Given the description of an element on the screen output the (x, y) to click on. 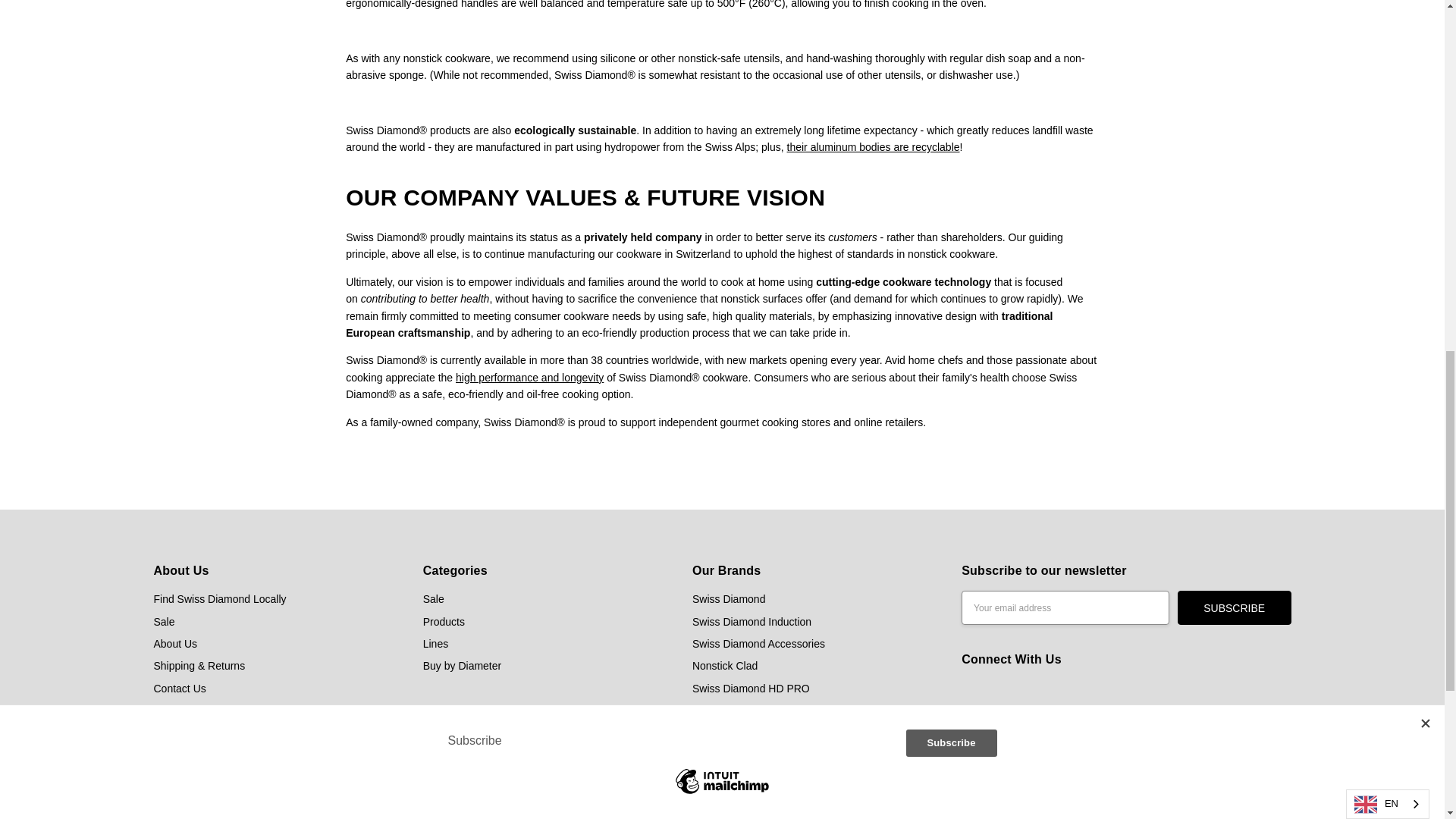
Subscribe (1234, 607)
